Given the description of an element on the screen output the (x, y) to click on. 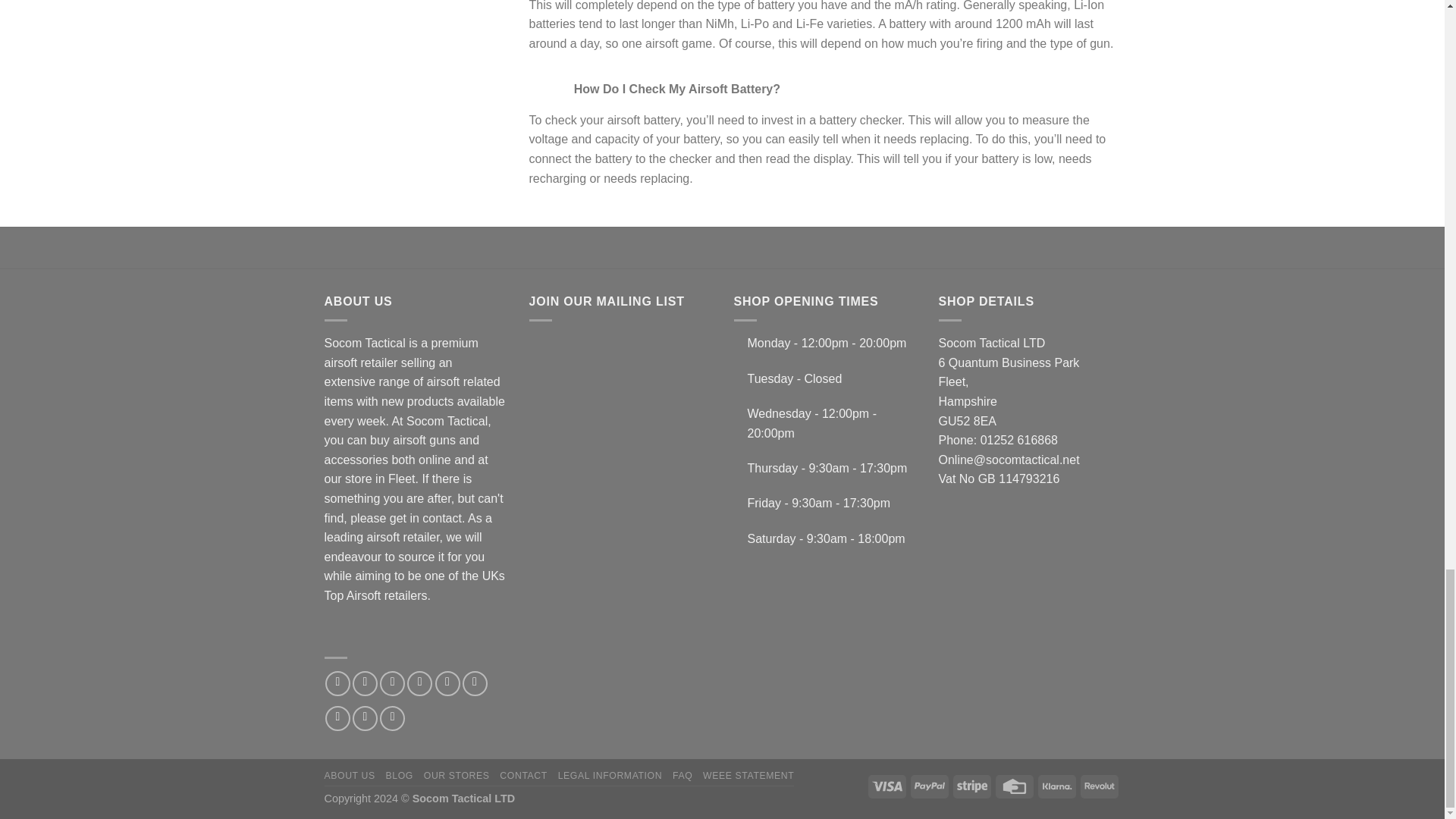
Follow on Instagram (364, 683)
Send us an email (447, 683)
Follow on Pinterest (337, 718)
Follow on Facebook (337, 683)
Call us (475, 683)
Follow on LinkedIn (364, 718)
Follow on Twitter (419, 683)
Follow on TikTok (392, 683)
